Given the description of an element on the screen output the (x, y) to click on. 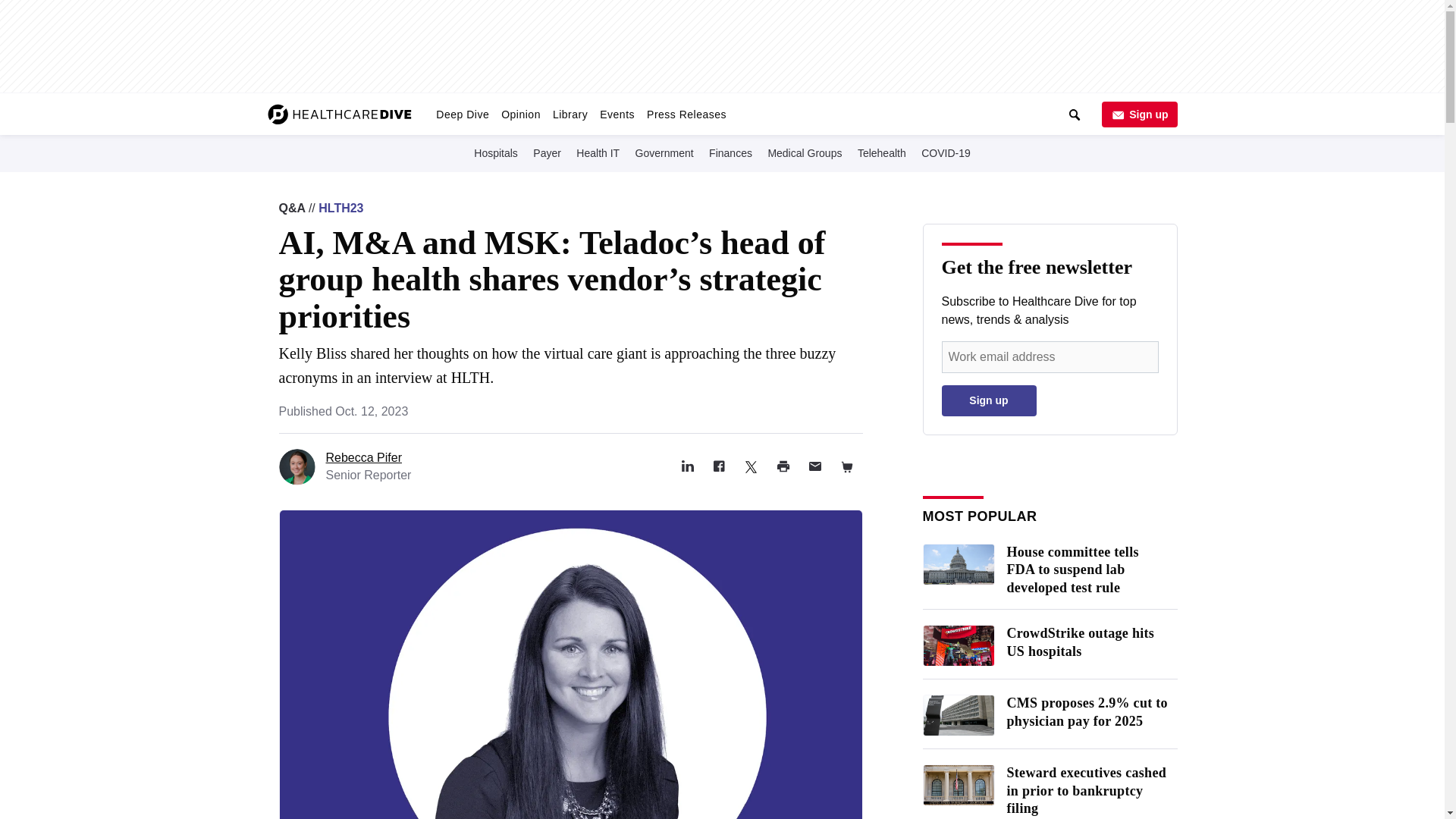
Health IT (598, 152)
Hospitals (495, 152)
Government (664, 152)
Library (570, 114)
Deep Dive (462, 114)
Telehealth (881, 152)
Events (617, 114)
COVID-19 (946, 152)
Press Releases (686, 114)
Sign up (1138, 114)
Opinion (521, 114)
Finances (730, 152)
Medical Groups (804, 152)
Payer (546, 152)
Rebecca Pifer (364, 457)
